Given the description of an element on the screen output the (x, y) to click on. 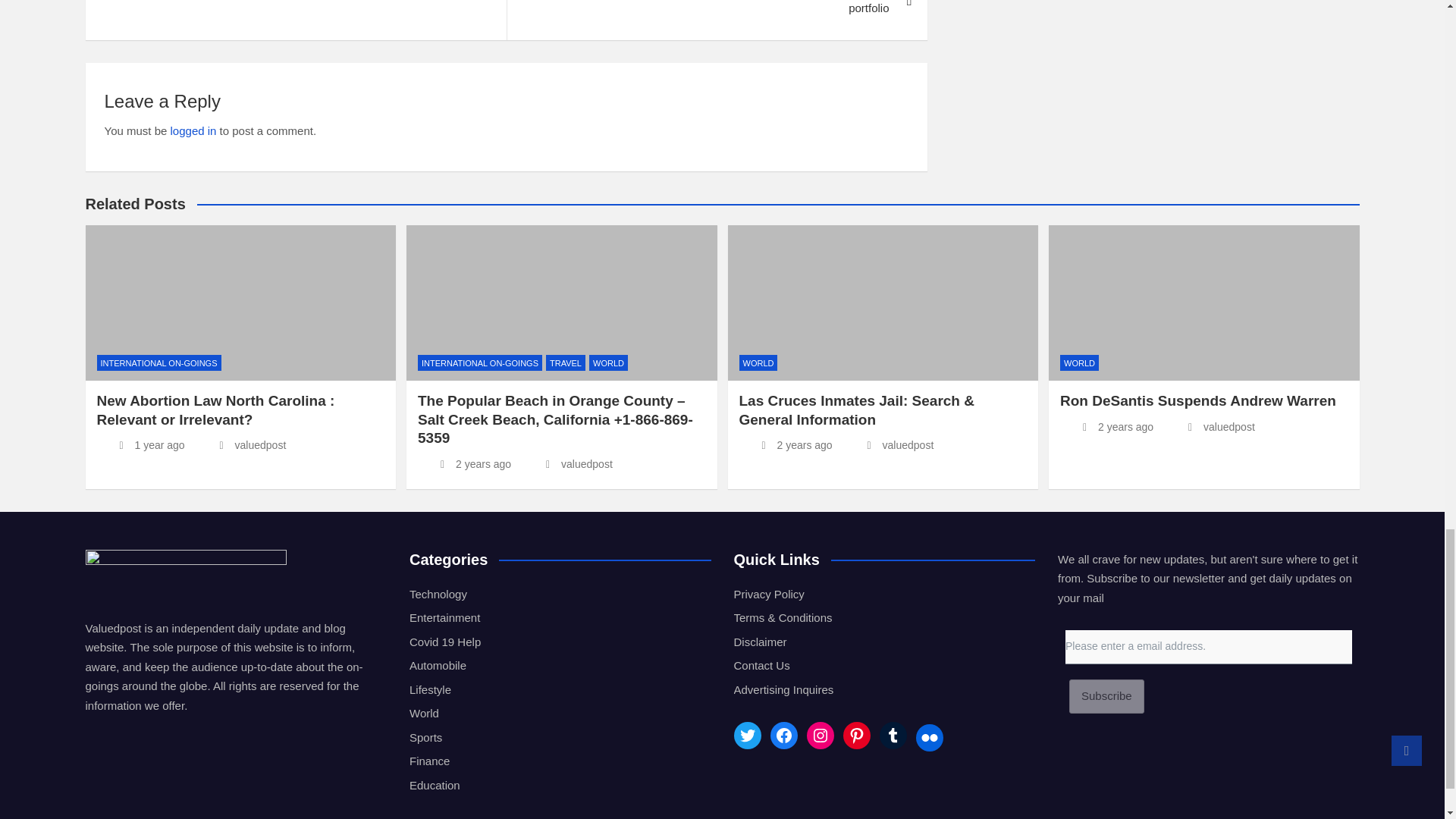
Student Loan Forgiveness Relief Program (294, 10)
logged in (193, 130)
New Abortion Law North Carolina : Relevant or Irrelevant? (140, 444)
Ron DeSantis Suspends Andrew Warren (1106, 426)
